Given the description of an element on the screen output the (x, y) to click on. 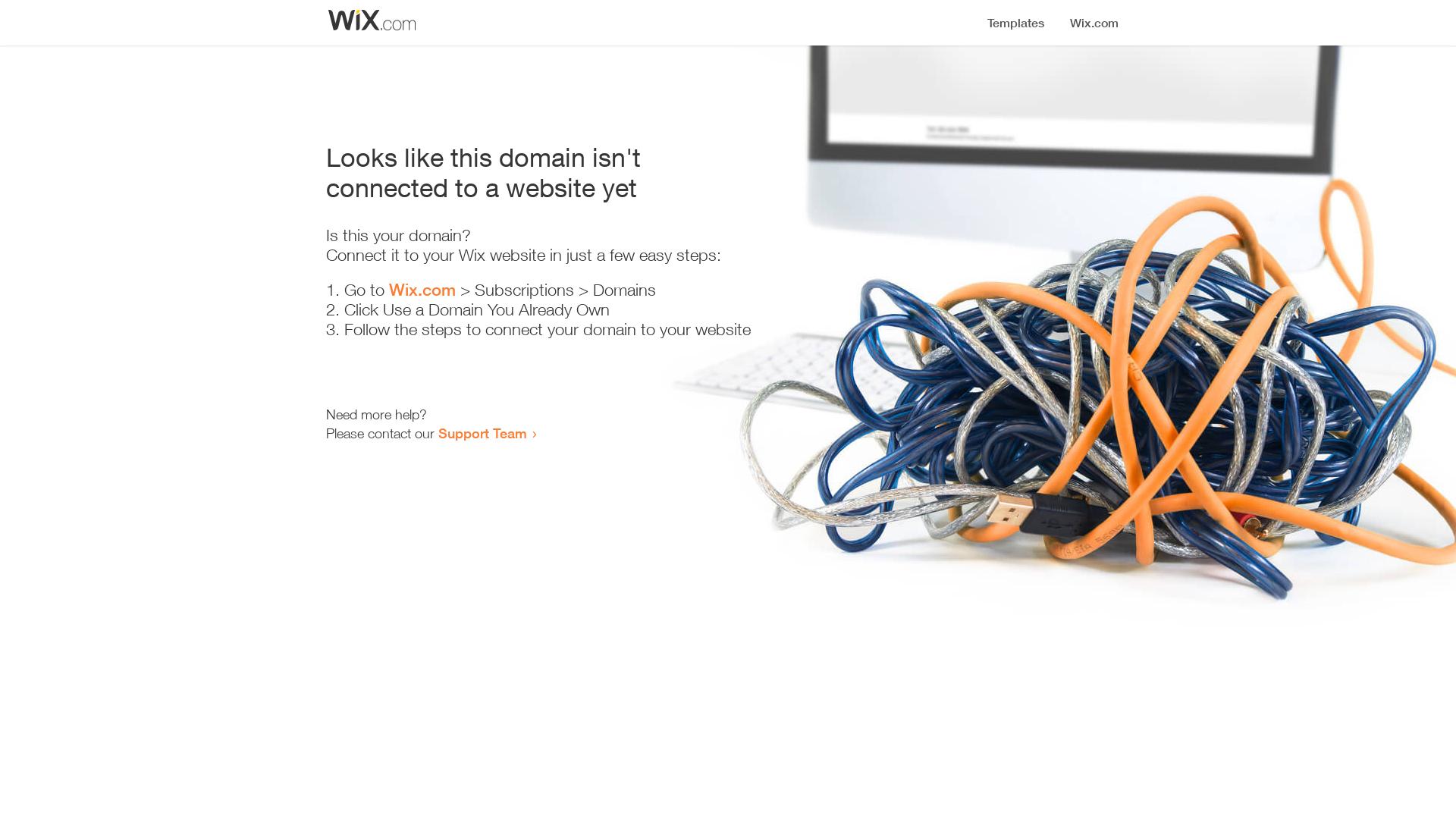
Wix.com Element type: text (422, 289)
Support Team Element type: text (482, 432)
